Given the description of an element on the screen output the (x, y) to click on. 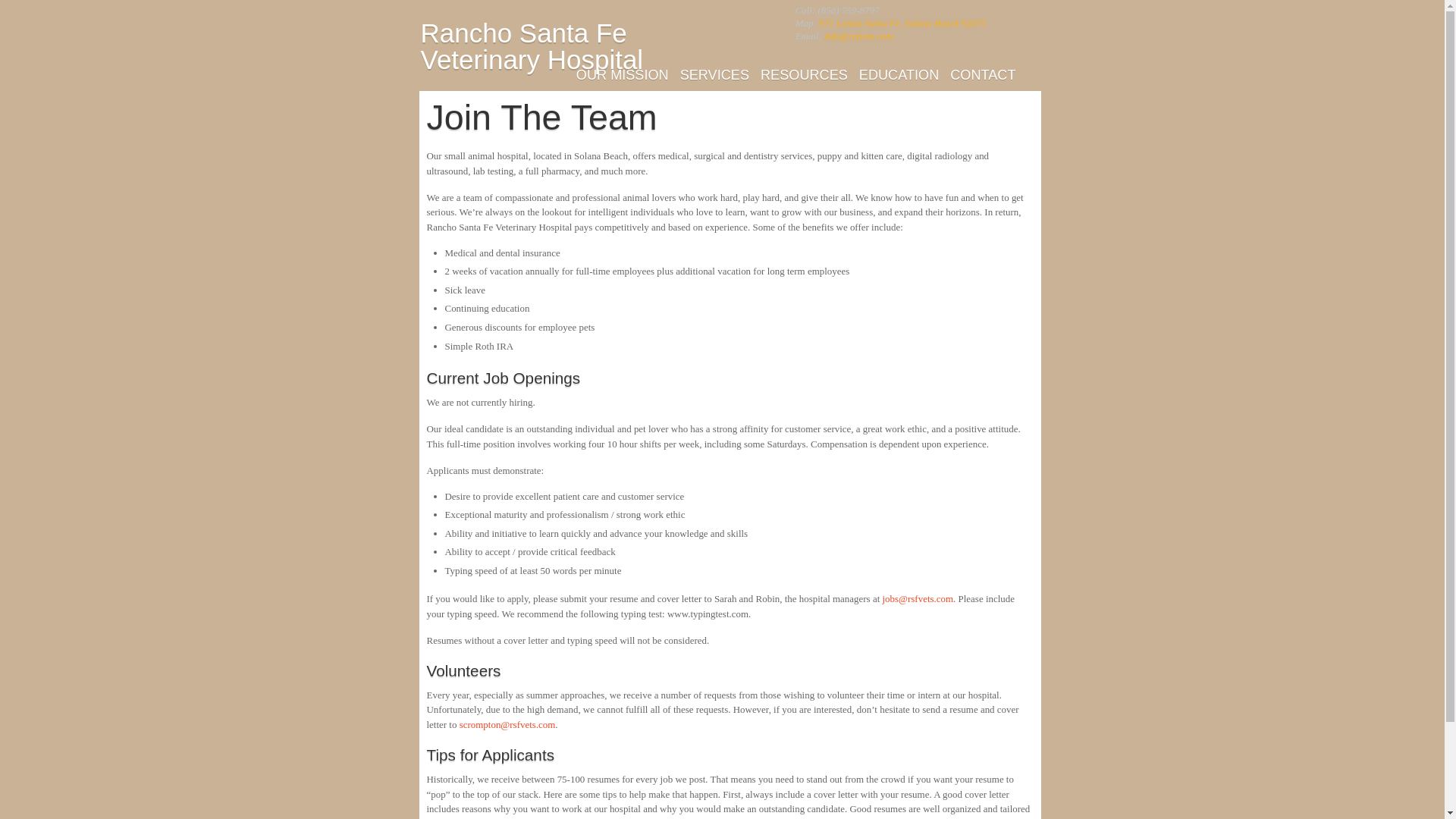
971 Lomas Santa Fe, Solana Beach 92075 (902, 22)
EDUCATION (899, 74)
RESOURCES (803, 74)
CONTACT (982, 74)
OUR MISSION (622, 74)
SERVICES (714, 74)
